Given the description of an element on the screen output the (x, y) to click on. 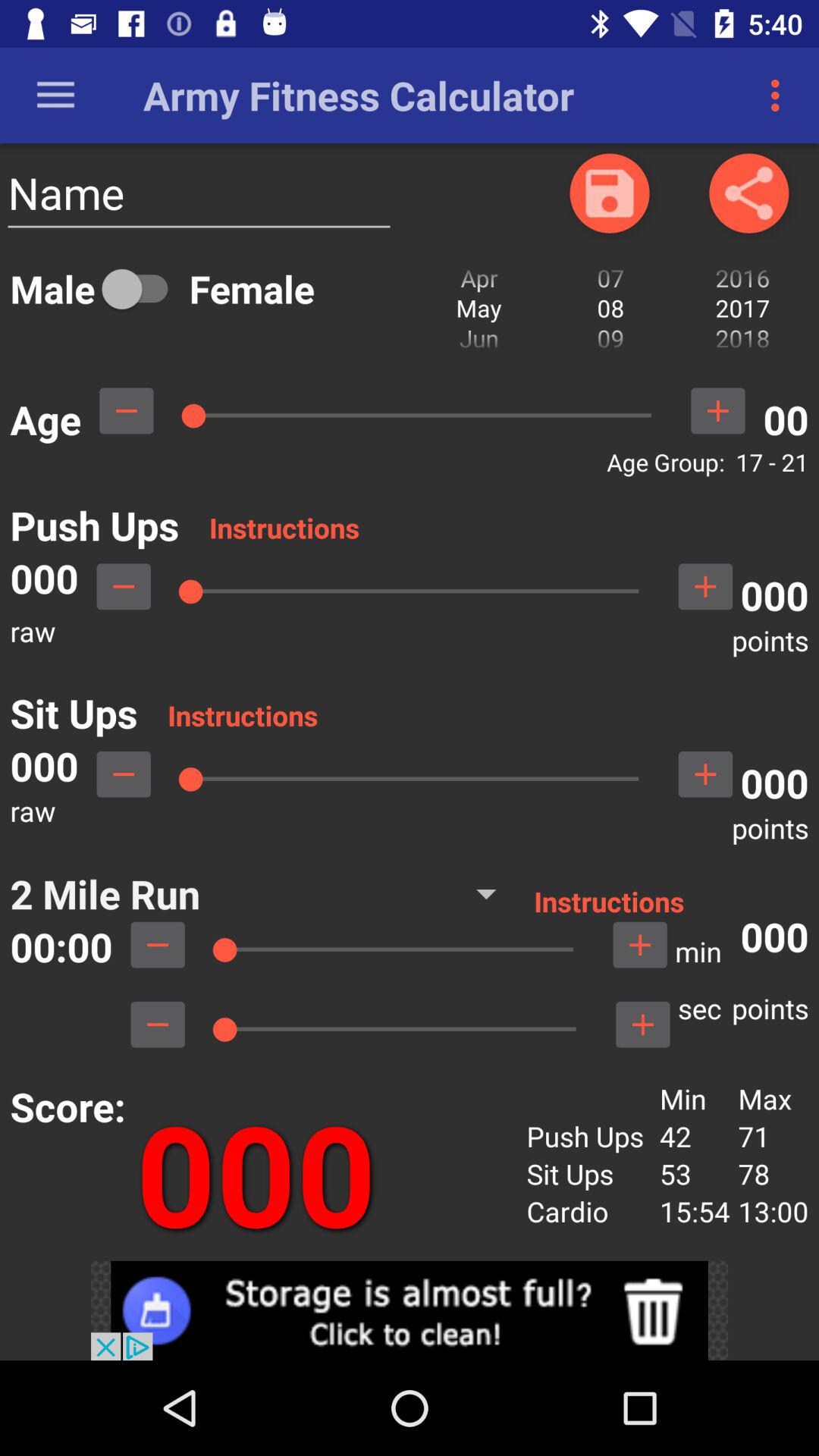
open (409, 1310)
